Given the description of an element on the screen output the (x, y) to click on. 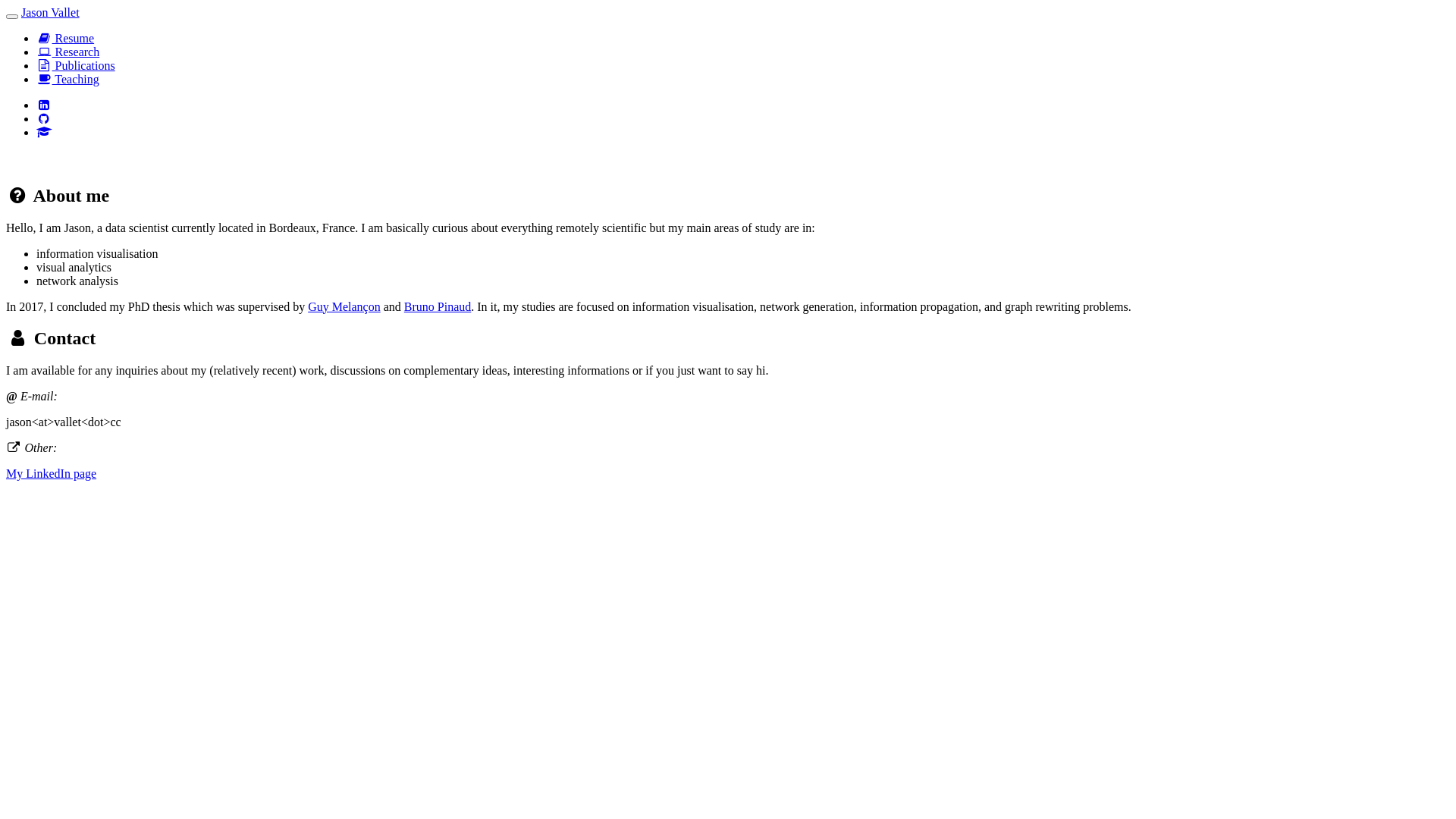
Jason Vallet Element type: text (50, 12)
Resume Element type: text (65, 37)
Google Scholar Element type: hover (44, 131)
Teaching Element type: text (67, 78)
GitHub Element type: hover (44, 118)
LinkedIn Element type: hover (44, 104)
Bruno Pinaud Element type: text (437, 306)
Publications Element type: text (75, 65)
My LinkedIn page Element type: text (51, 473)
Research Element type: text (67, 51)
